Given the description of an element on the screen output the (x, y) to click on. 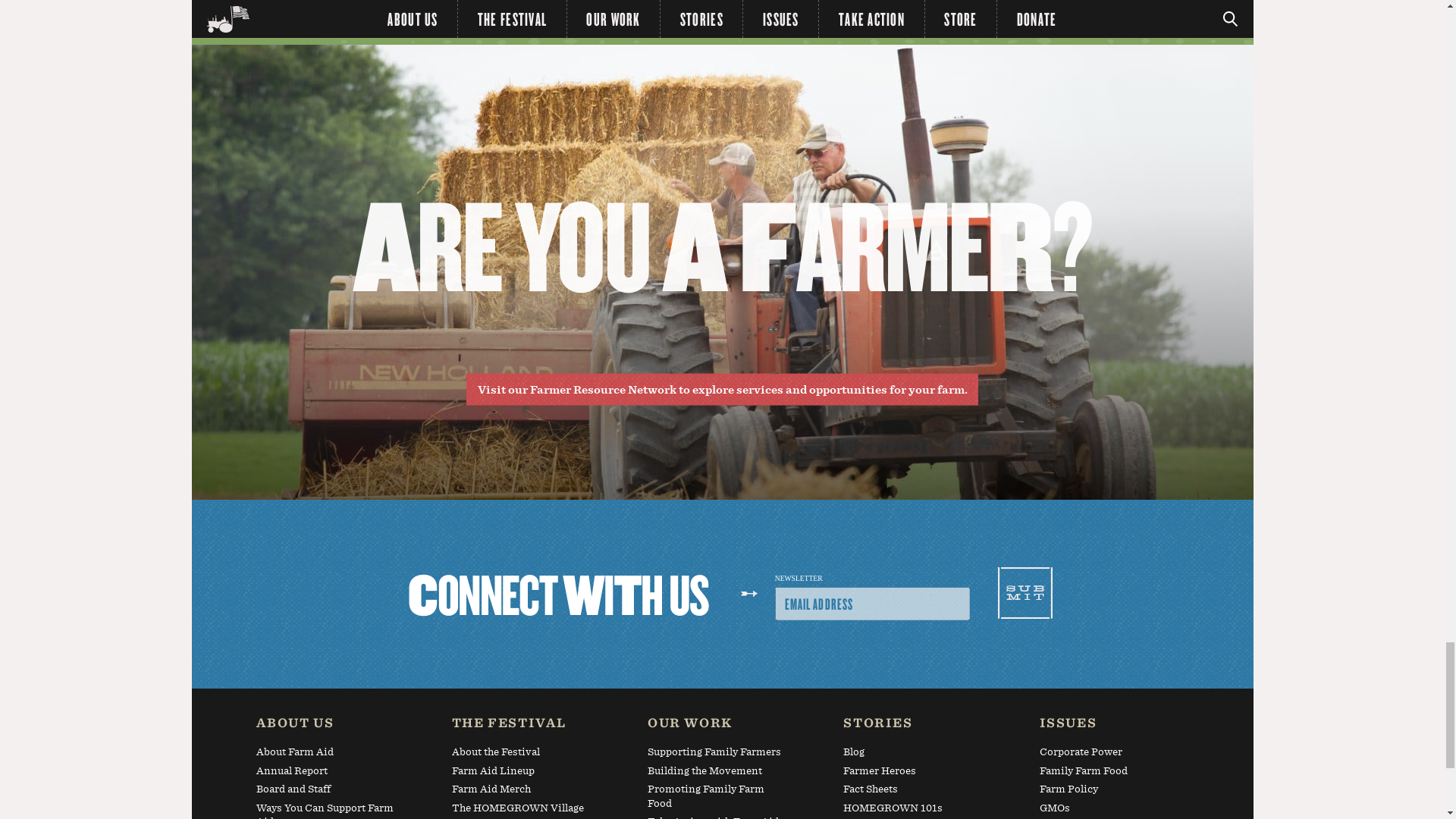
Ways You Can Support Farm Aid (326, 810)
Board and Staff (326, 791)
Annual Report (326, 773)
About Farm Aid (326, 754)
ABOUT US (326, 725)
